Given the description of an element on the screen output the (x, y) to click on. 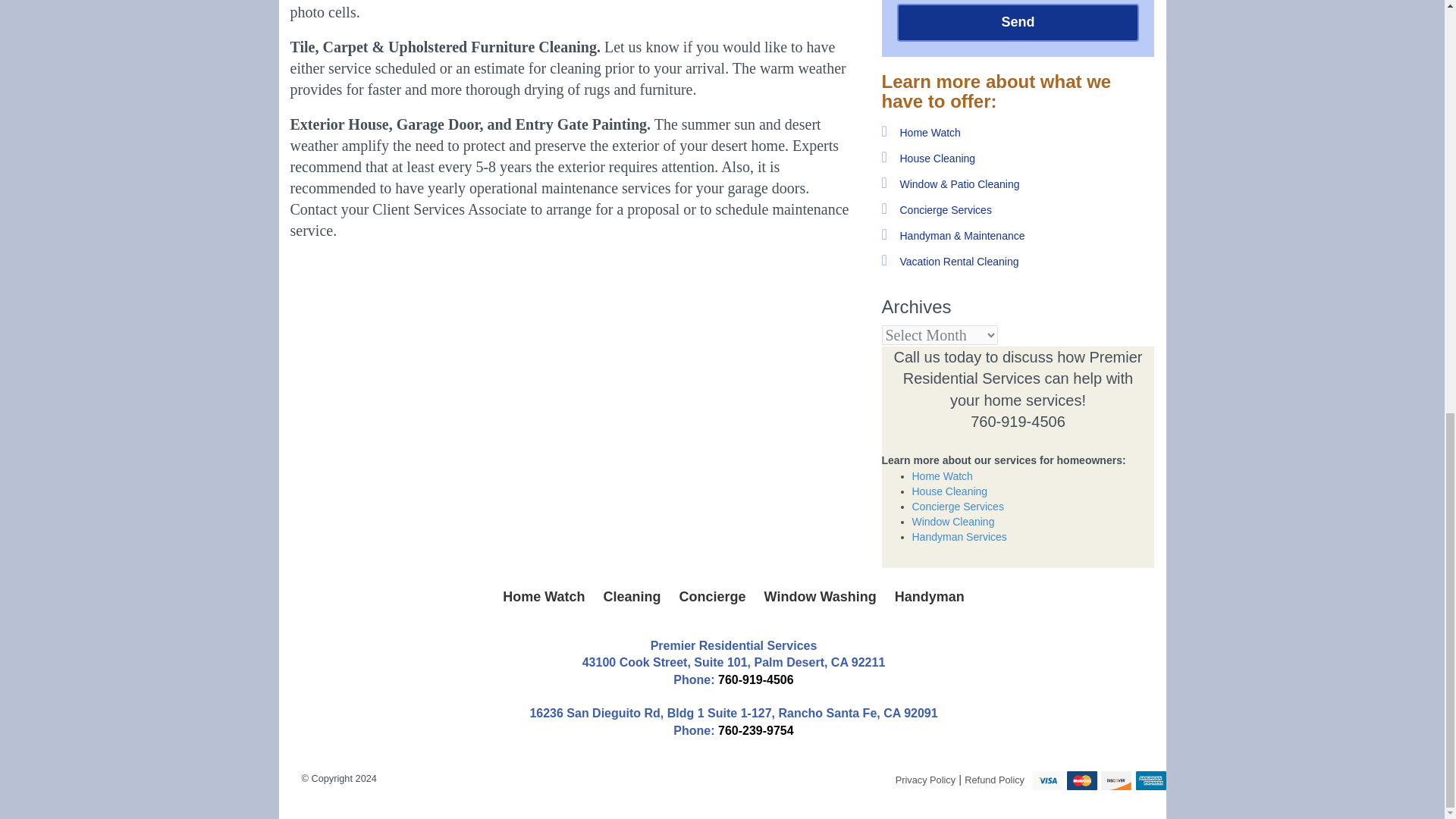
Home Watch (543, 596)
Cleaning (631, 596)
Send (1017, 22)
Concierge Services (945, 209)
Home Watch (929, 132)
Vacation Rental Cleaning (958, 261)
House Cleaning (937, 158)
Send (1017, 22)
